Given the description of an element on the screen output the (x, y) to click on. 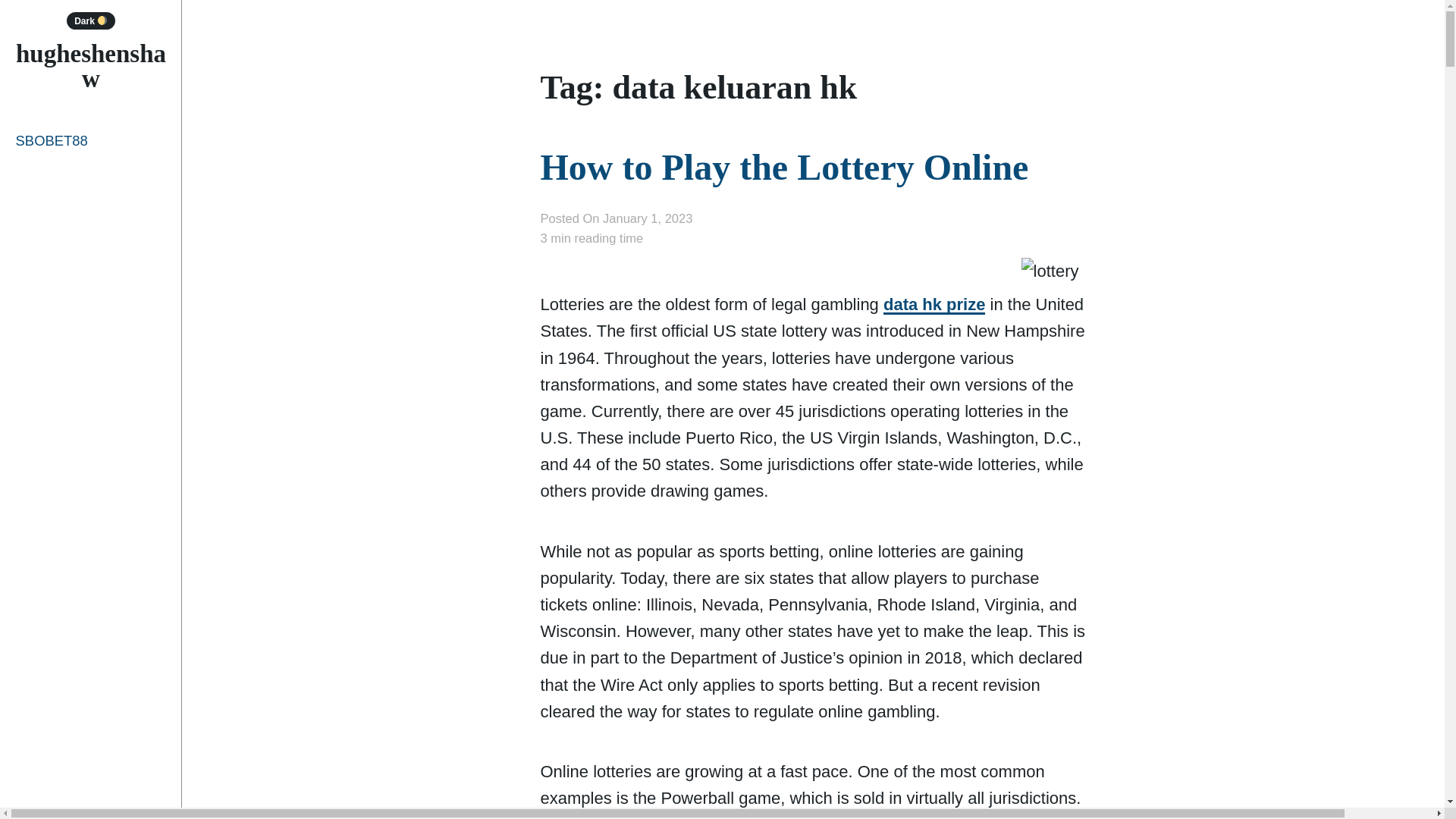
hugheshenshaw (90, 66)
SBOBET88 (90, 140)
data hk prize (934, 304)
How to Play the Lottery Online (783, 167)
